Given the description of an element on the screen output the (x, y) to click on. 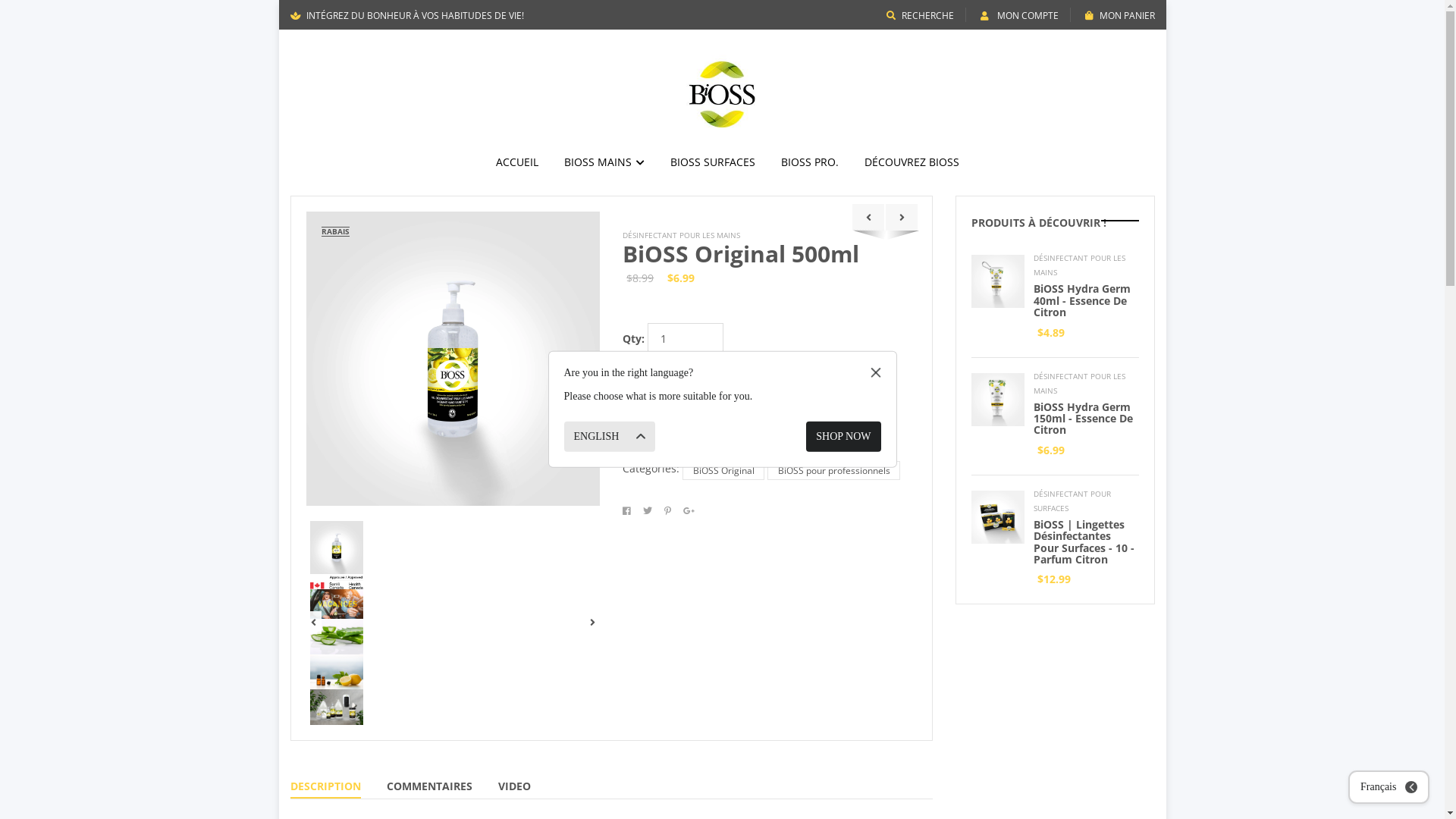
BiOSS Original Element type: text (723, 470)
In stock Element type: text (710, 445)
DESCRIPTION Element type: text (324, 788)
ACCUEIL Element type: text (517, 161)
Add to Wishlist Element type: text (682, 409)
Qty Element type: hover (685, 338)
BIOSS PRO. Element type: text (809, 161)
BiOSS Hydra Germ 150ml - Essence De Citron Element type: text (1082, 418)
BiOSS pour professionnels Element type: text (833, 470)
RECHERCHE Element type: text (919, 15)
VIDEO Element type: text (513, 788)
BIOSS SURFACES Element type: text (712, 161)
MON PANIER Element type: text (1119, 15)
COMMENTAIRES Element type: text (429, 788)
BiOSS Original 500ml Element type: text (740, 253)
BiOSS Hydra Germ 40ml - Essence De Citron Element type: text (1081, 300)
MON COMPTE Element type: text (1018, 15)
ADD TO CART Element type: text (717, 369)
BIOSS MAINS Element type: text (604, 161)
